Given the description of an element on the screen output the (x, y) to click on. 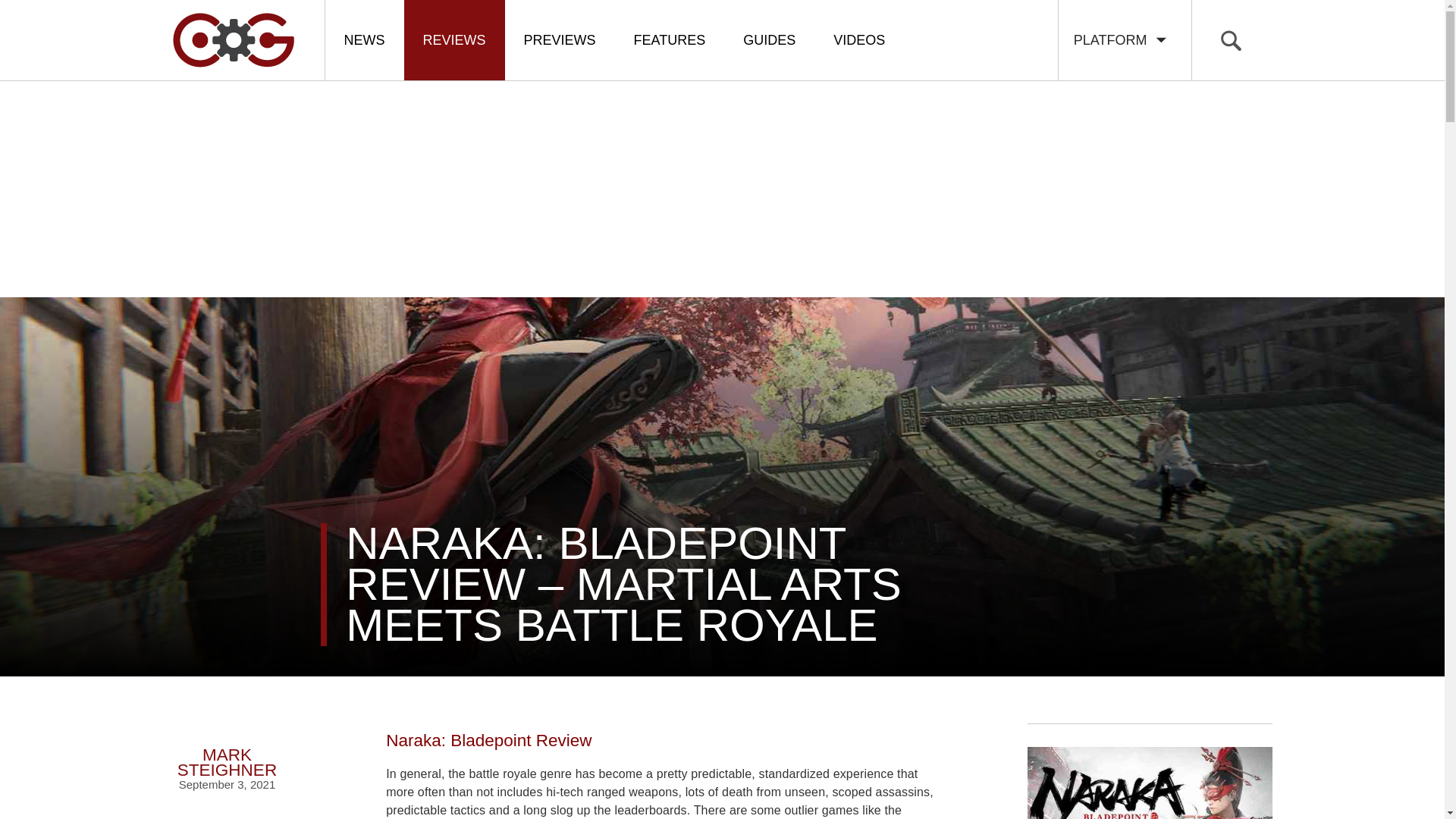
PLATFORM   (1124, 39)
